Given the description of an element on the screen output the (x, y) to click on. 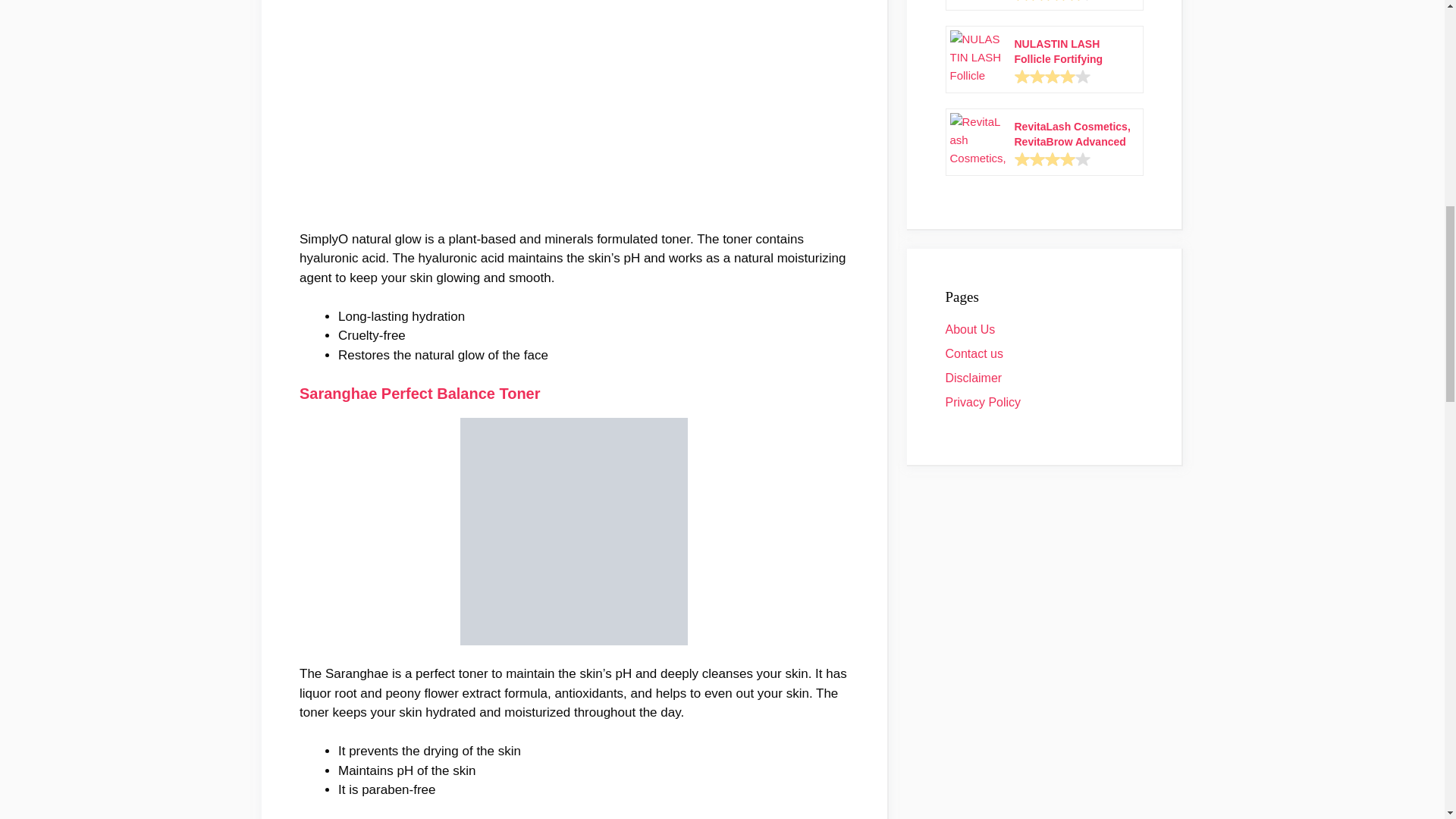
Saranghae Perfect Balance Toner (419, 393)
NULASTIN LASH Follicle Fortifying Serum with... (1073, 51)
Reviews on Amazon (1052, 0)
